Given the description of an element on the screen output the (x, y) to click on. 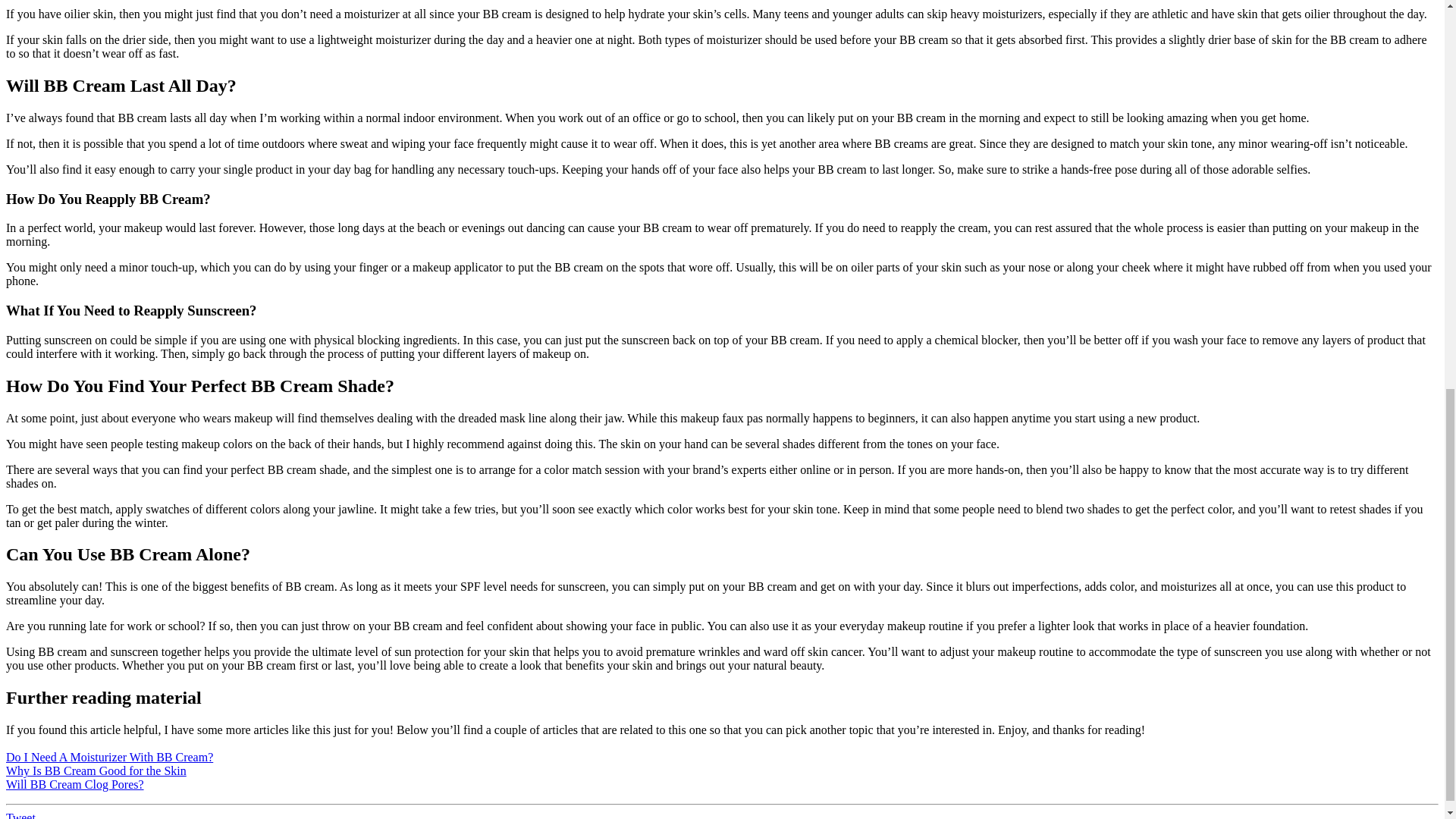
Will BB Cream Clog Pores? (74, 784)
Why Is BB Cream Good for the Skin (95, 770)
Do I Need A Moisturizer With BB Cream? (108, 757)
